Given the description of an element on the screen output the (x, y) to click on. 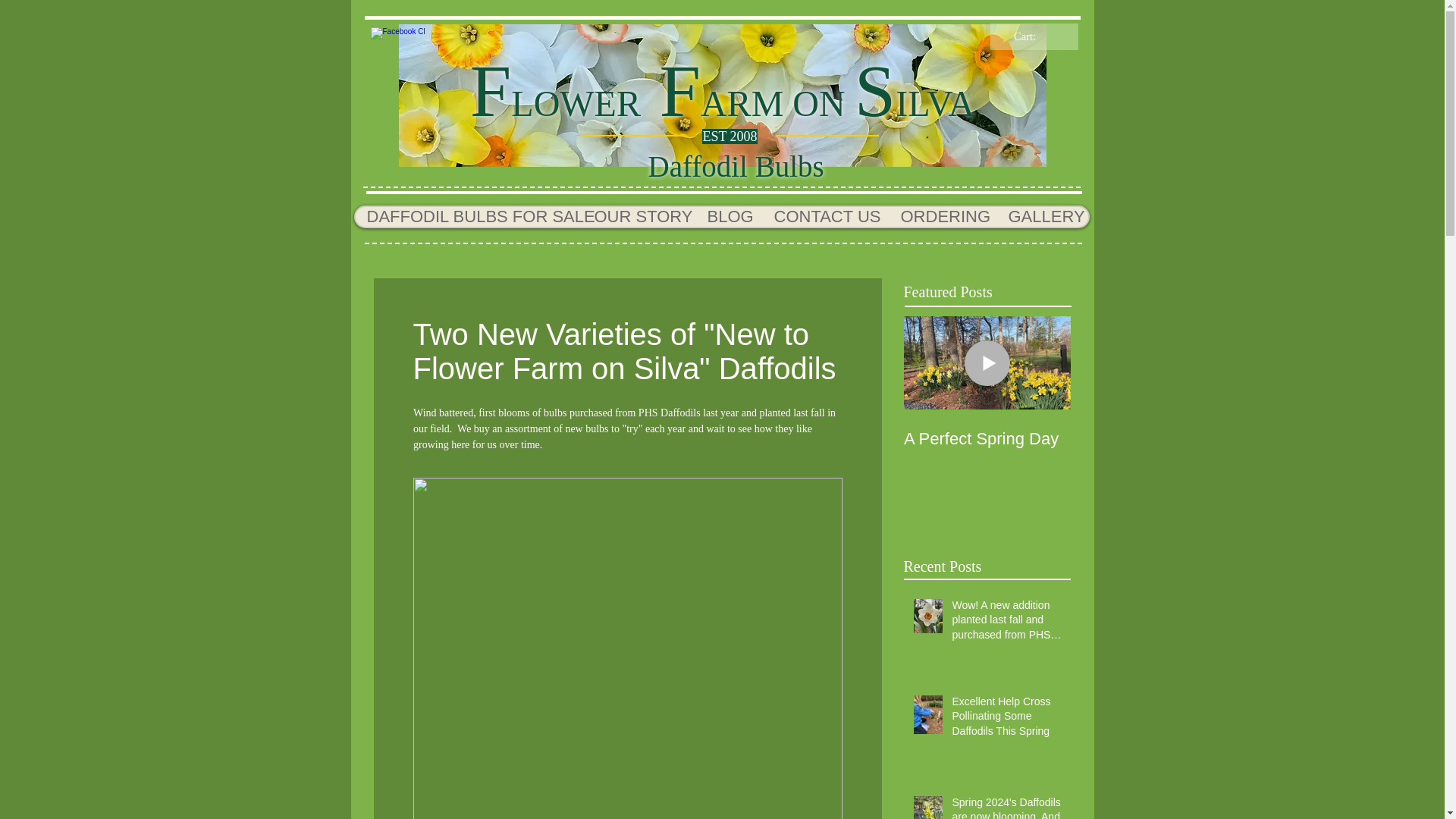
OUR STORY (638, 216)
BLOG (727, 216)
ORDERING (941, 216)
A Perfect Spring Day (987, 438)
Cart: (1034, 36)
Cart: (1034, 36)
Excellent Help Cross Pollinating Some Daffodils This Spring (1006, 719)
GALLERY (1039, 216)
DAFFODIL BULBS FOR SALE (467, 216)
CONTACT US (824, 216)
